Given the description of an element on the screen output the (x, y) to click on. 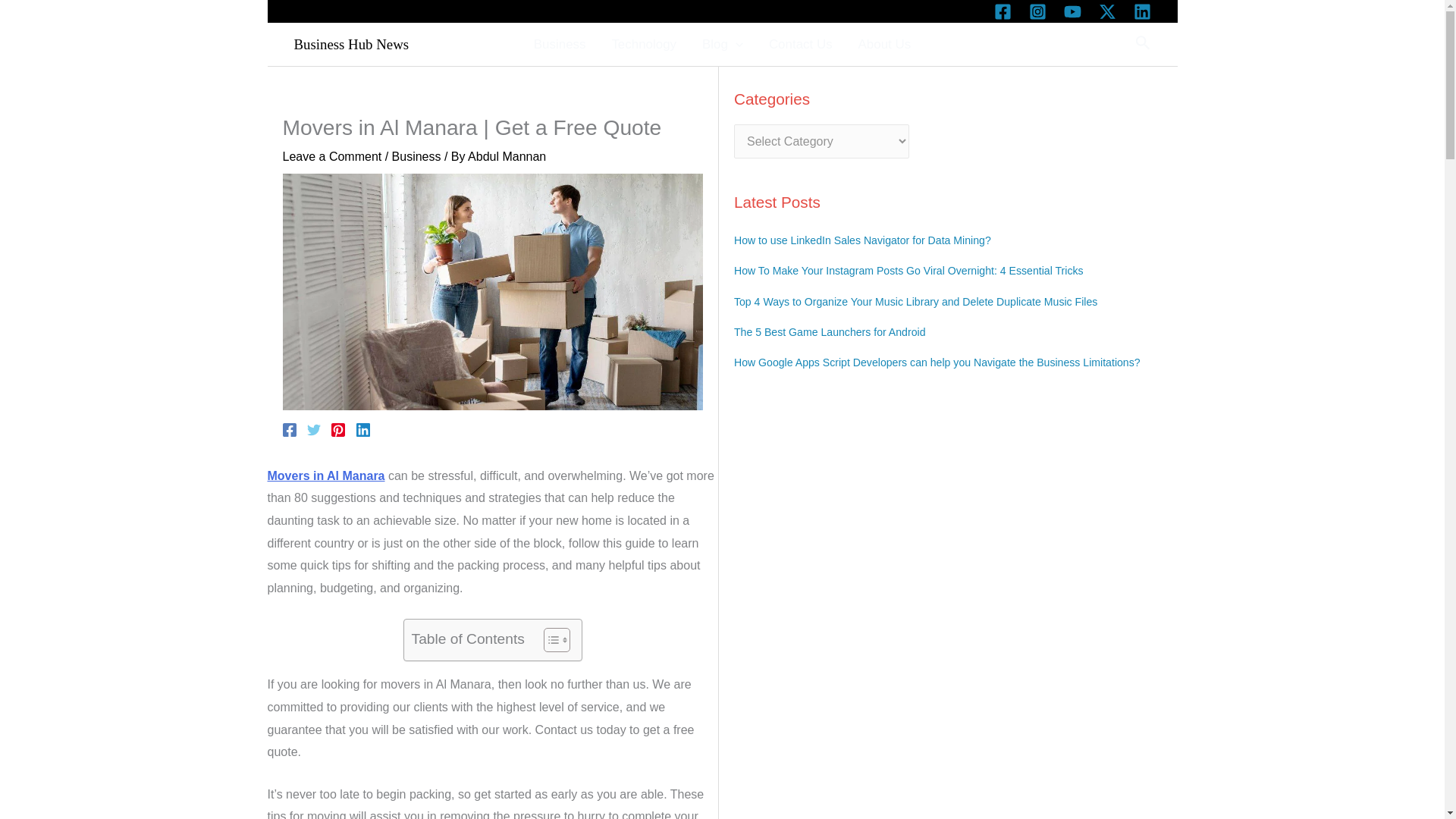
Leave a Comment (331, 155)
About Us (884, 44)
Movers in Al Manara (325, 475)
View all posts by Abdul Mannan (506, 155)
Business (416, 155)
Business Hub News (351, 44)
Blog (721, 44)
Technology (643, 44)
Abdul Mannan (506, 155)
Contact Us (800, 44)
